Given the description of an element on the screen output the (x, y) to click on. 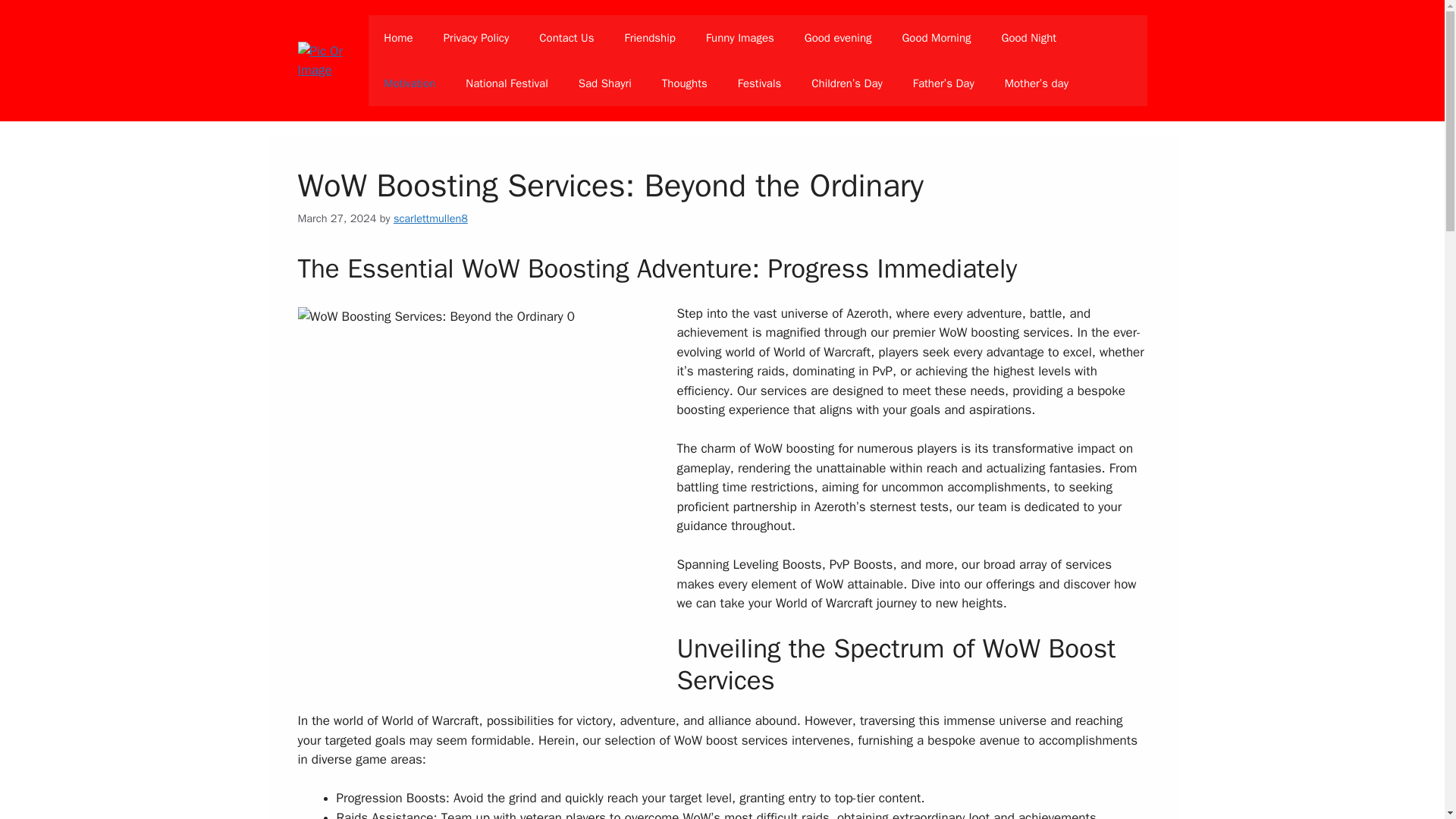
Home (398, 37)
Good Night (1029, 37)
National Festival (505, 83)
View all posts by scarlettmullen8 (430, 218)
Friendship (650, 37)
Privacy Policy (476, 37)
Sad Shayri (604, 83)
Motivation (408, 83)
Contact Us (566, 37)
scarlettmullen8 (430, 218)
Funny Images (739, 37)
Festivals (759, 83)
Good evening (837, 37)
Thoughts (684, 83)
